Given the description of an element on the screen output the (x, y) to click on. 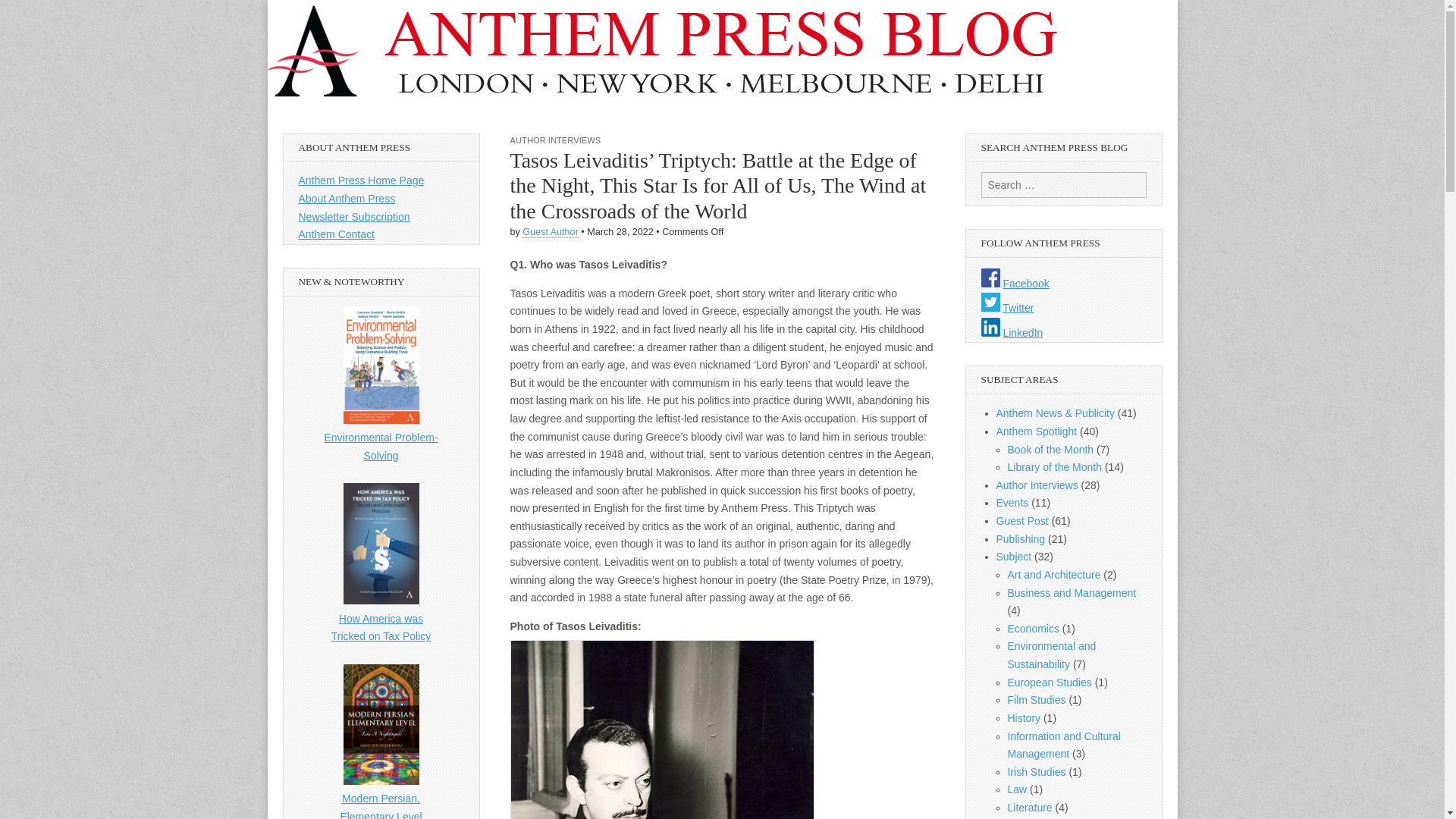
Anthem Press Blog (340, 76)
FB (990, 277)
Anthem Contact (336, 234)
Twitter (990, 302)
Anthem Spotlight (1036, 431)
Library of the Month (1054, 467)
Author Interviews (1036, 485)
Film Studies (1036, 699)
Art and Architecture (1053, 574)
LinkedIn (990, 326)
